Given the description of an element on the screen output the (x, y) to click on. 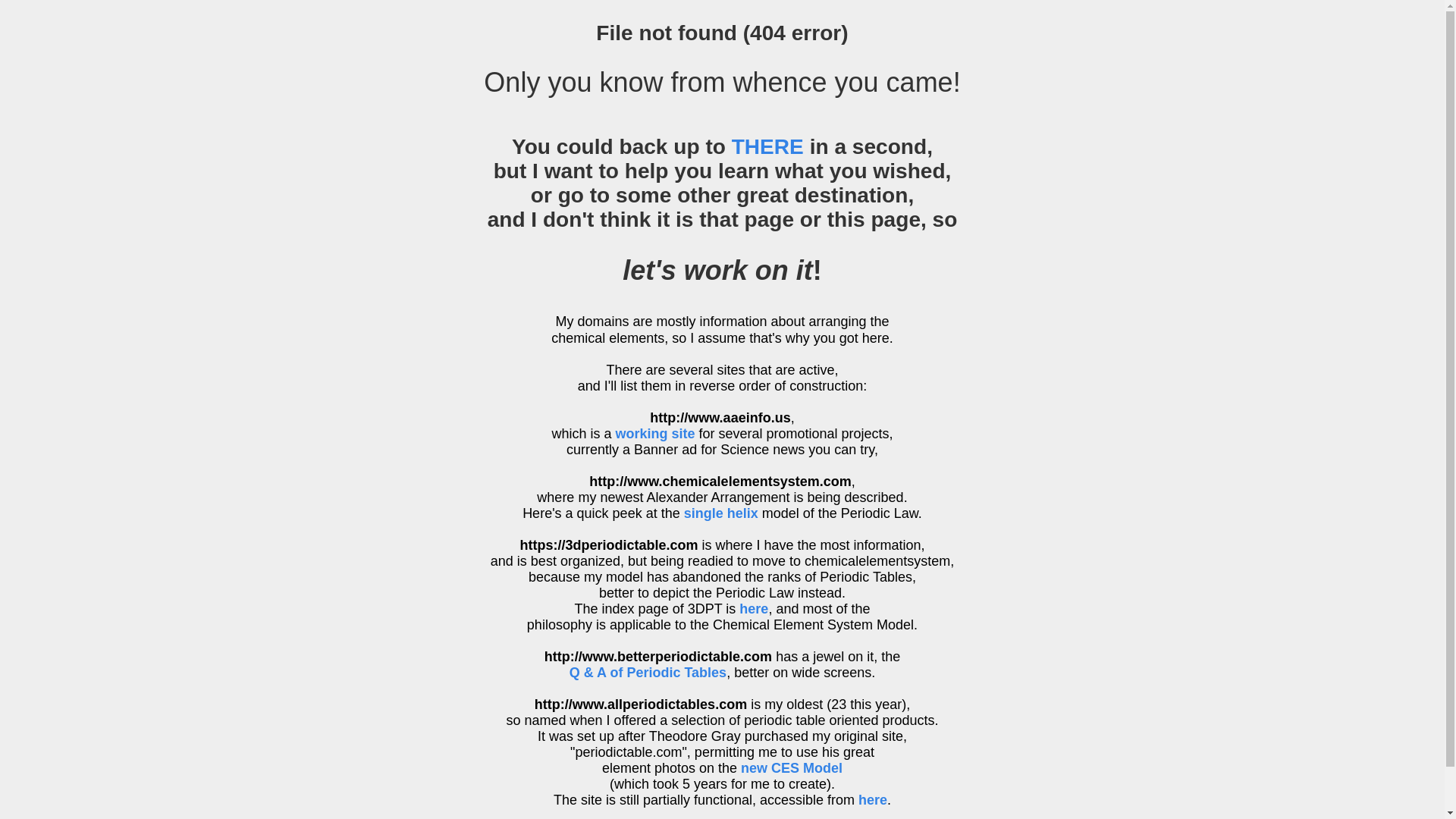
Q & A of Periodic Tables Element type: text (734, 680)
working site Element type: text (654, 433)
THERE Element type: text (767, 146)
here Element type: text (753, 608)
single helix Element type: text (721, 512)
new CES Model Element type: text (791, 767)
here Element type: text (872, 799)
